Given the description of an element on the screen output the (x, y) to click on. 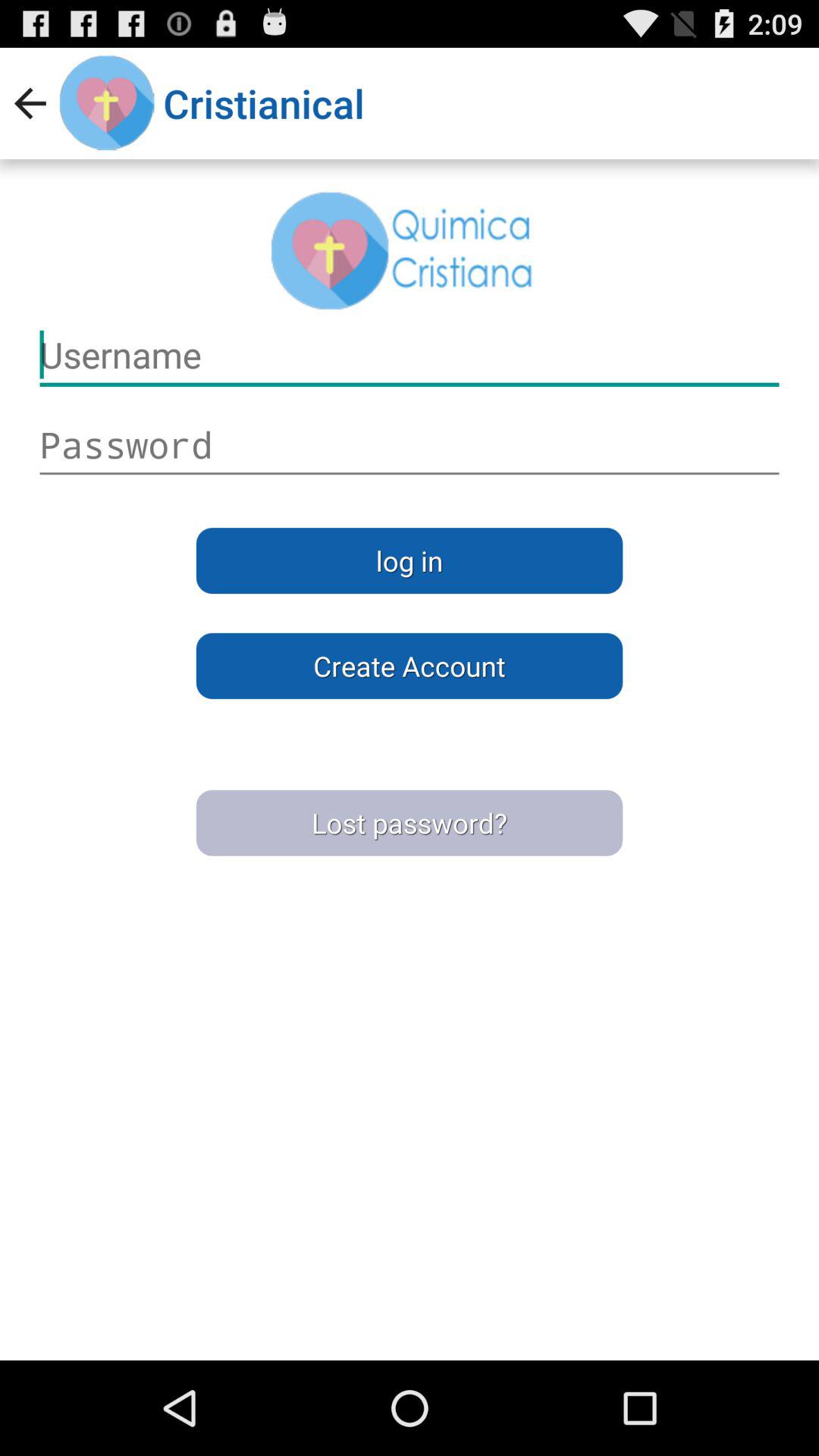
choose the icon above create account icon (409, 560)
